Given the description of an element on the screen output the (x, y) to click on. 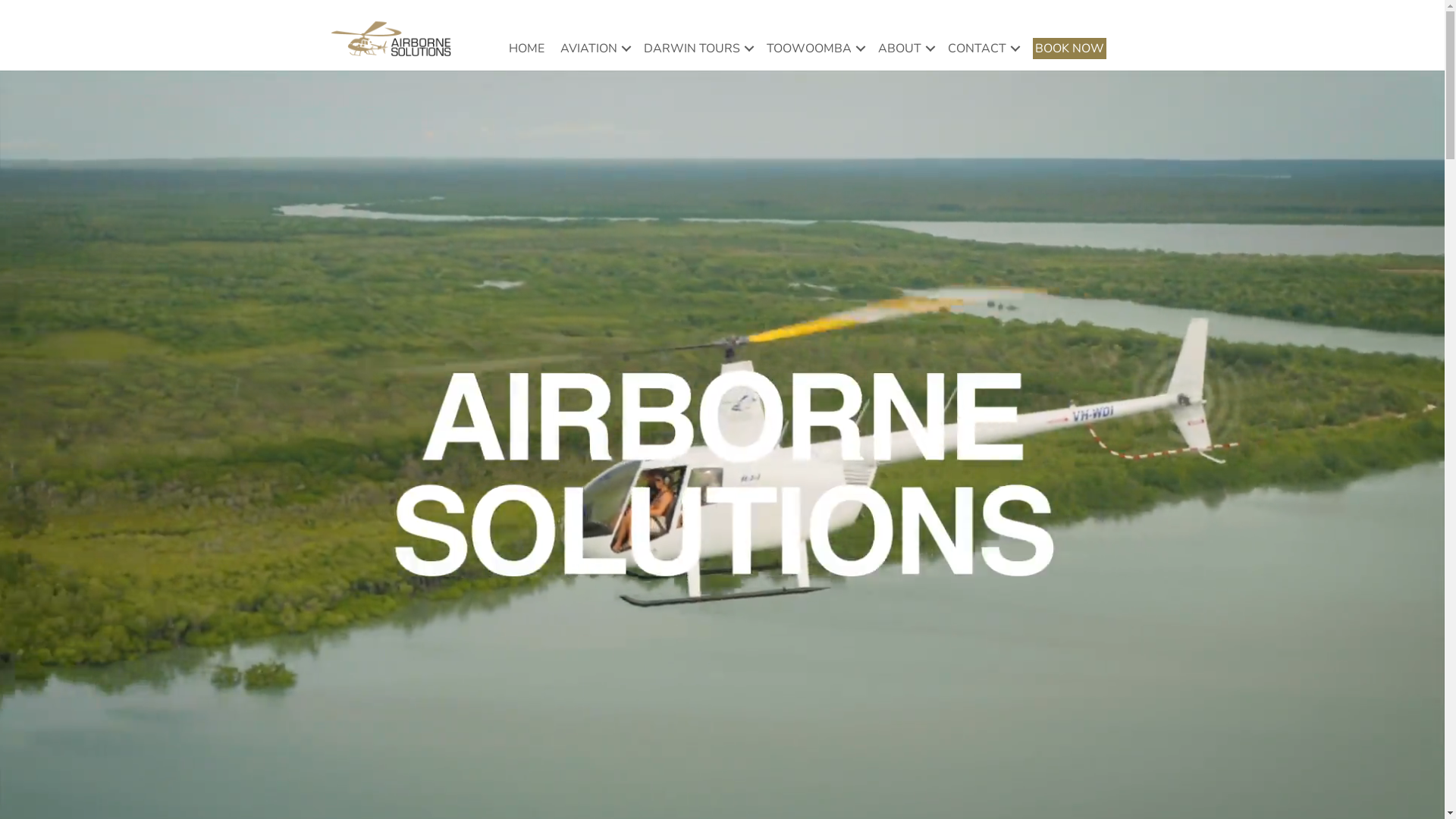
AVIATION Element type: text (593, 48)
TOOWOOMBA Element type: text (814, 48)
ABOUT Element type: text (904, 48)
DARWIN TOURS Element type: text (697, 48)
BOOK NOW Element type: text (1069, 48)
HOME Element type: text (526, 48)
CONTACT Element type: text (982, 48)
Airborne-Logo-1 Element type: hover (390, 38)
